Given the description of an element on the screen output the (x, y) to click on. 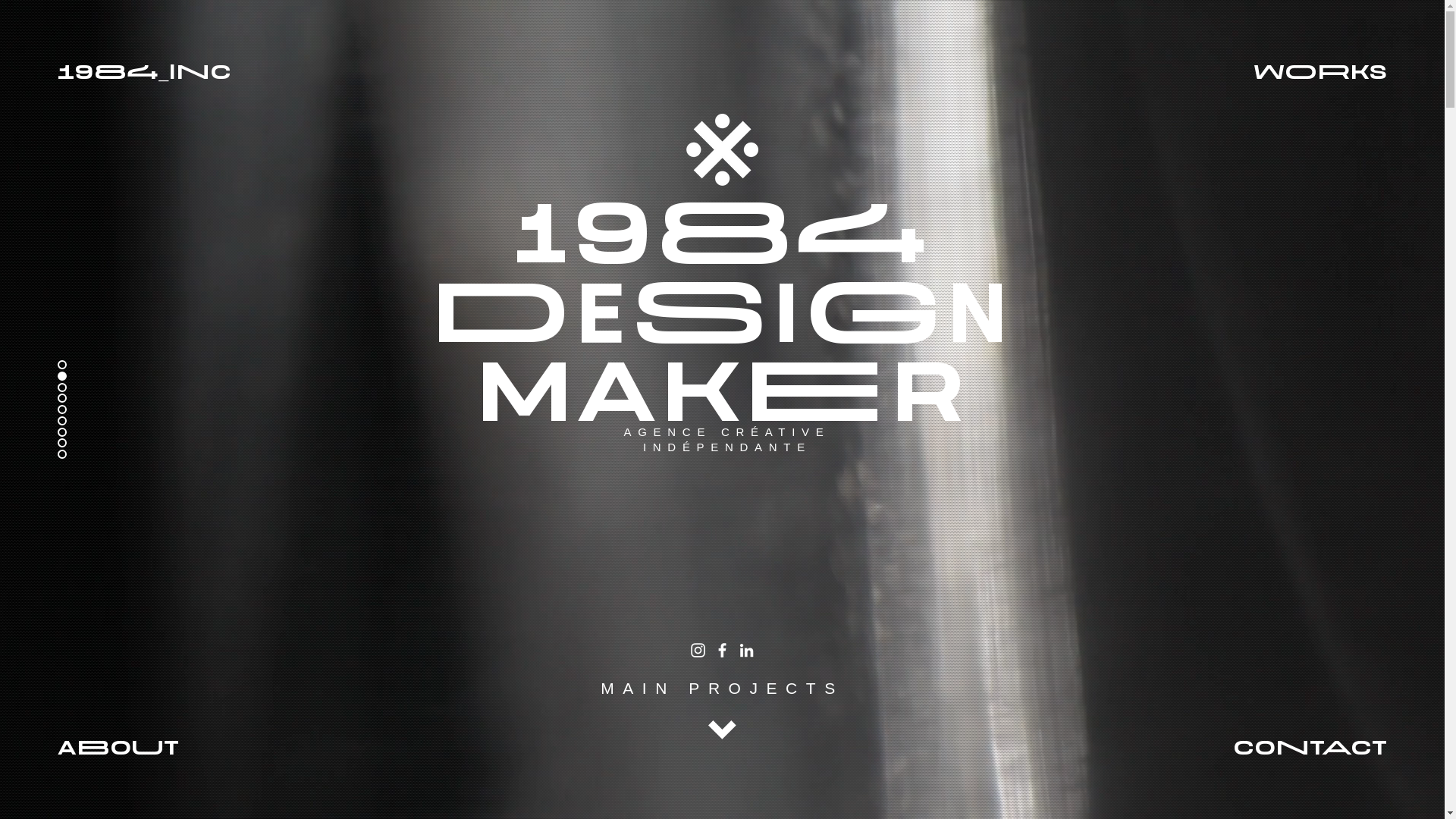
Contact Element type: text (1309, 746)
i Element type: text (171, 70)
84_ Element type: text (131, 70)
19 Element type: text (75, 70)
works Element type: text (1319, 70)
nc Element type: text (203, 70)
MAIN PROJECTS Element type: text (722, 687)
about Element type: text (117, 746)
